Given the description of an element on the screen output the (x, y) to click on. 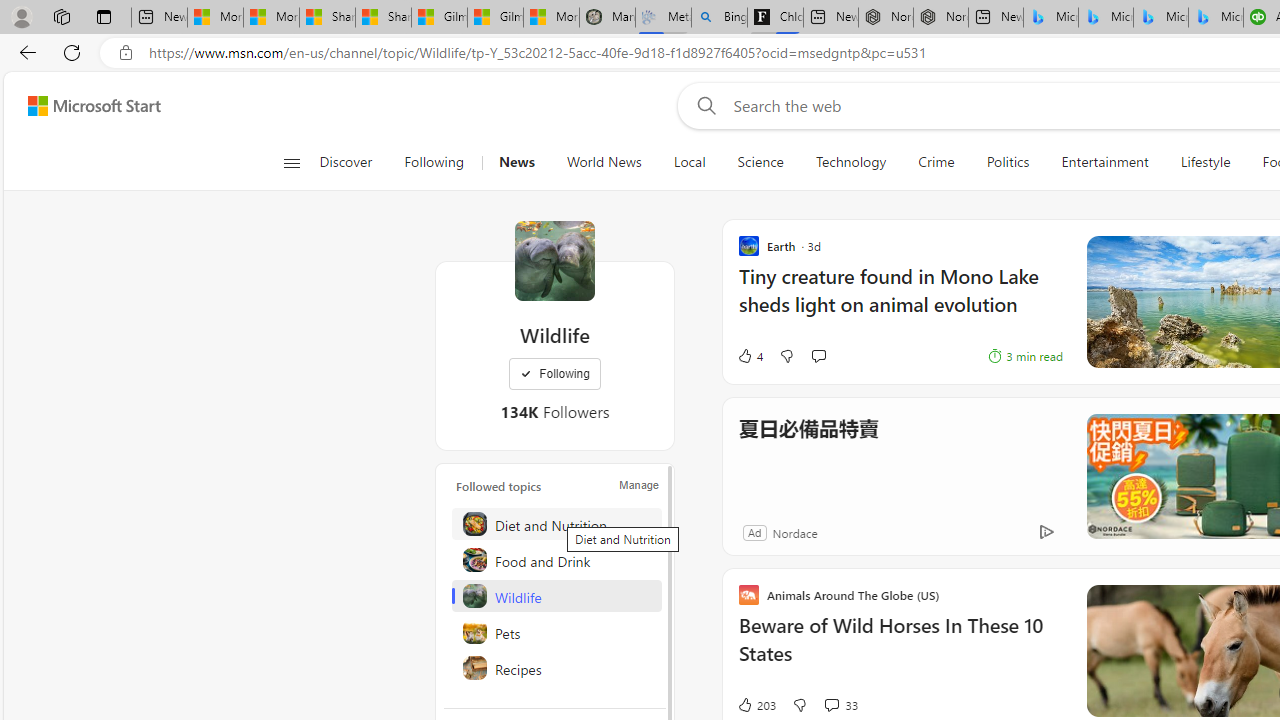
Science (760, 162)
Class: button-glyph (290, 162)
Pets (556, 632)
Manage (639, 484)
Microsoft Bing Travel - Shangri-La Hotel Bangkok (1215, 17)
Microsoft Bing Travel - Stays in Bangkok, Bangkok, Thailand (1105, 17)
Food and Drink (556, 560)
